Given the description of an element on the screen output the (x, y) to click on. 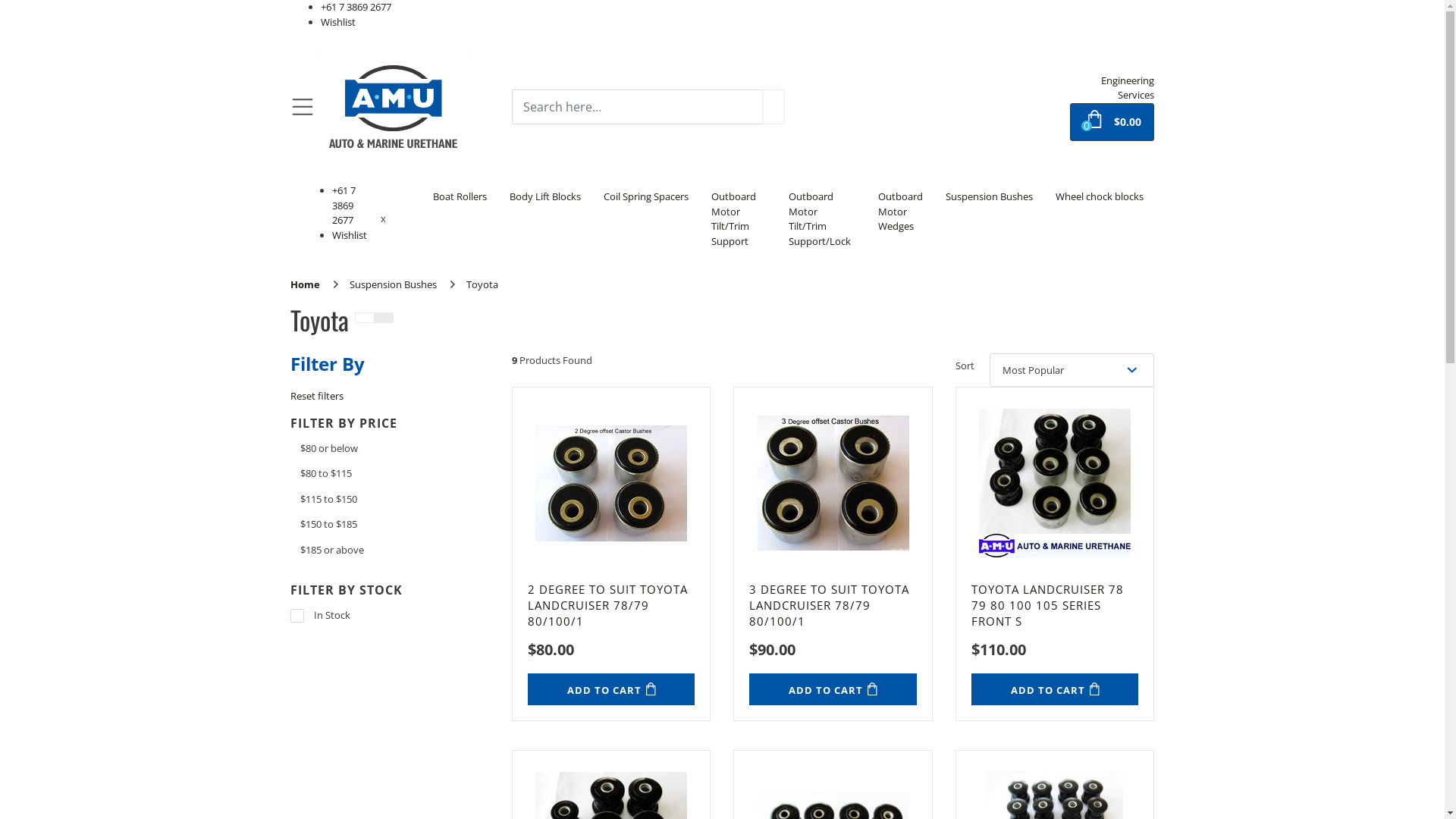
Auto & Marine Urethane Element type: hover (392, 105)
$80 to $115 Element type: text (389, 473)
ADD TO CART Element type: text (832, 689)
Outboard Motor Tilt/Trim Support/Lock Element type: text (821, 219)
Suspension Bushes Element type: text (392, 284)
Wheel chock blocks Element type: text (1098, 197)
Coil Spring Spacers Element type: text (645, 197)
$150 to $185 Element type: text (389, 524)
$185 or above Element type: text (389, 550)
Reset filters Element type: text (315, 395)
$115 to $150 Element type: text (389, 499)
Outboard Motor Wedges Element type: text (899, 211)
ADD TO CART Element type: text (610, 689)
Engineering
Services Element type: text (1127, 86)
$0.00
0 Element type: text (1112, 122)
Boat Rollers Element type: text (459, 197)
Suspension Bushes Element type: text (989, 197)
Wishlist Element type: text (337, 21)
Search Element type: text (773, 106)
2 DEGREE TO SUIT TOYOTA LANDCRUISER 78/79 80/100/1 Element type: text (610, 604)
Wishlist Element type: text (349, 234)
3 DEGREE TO SUIT TOYOTA LANDCRUISER 78/79 80/100/1 Element type: text (832, 604)
ADD TO CART Element type: text (1054, 689)
+61 7 3869 2677 Element type: text (355, 6)
$80 or below Element type: text (389, 448)
TOYOTA LANDCRUISER 78 79 80 100 105 SERIES FRONT S Element type: text (1054, 604)
+61 7 3869 2677 Element type: text (343, 204)
Home Element type: text (304, 284)
Body Lift Blocks Element type: text (545, 197)
Toyota Element type: text (481, 284)
Outboard Motor Tilt/Trim Support Element type: text (738, 219)
In Stock Element type: text (389, 615)
